Given the description of an element on the screen output the (x, y) to click on. 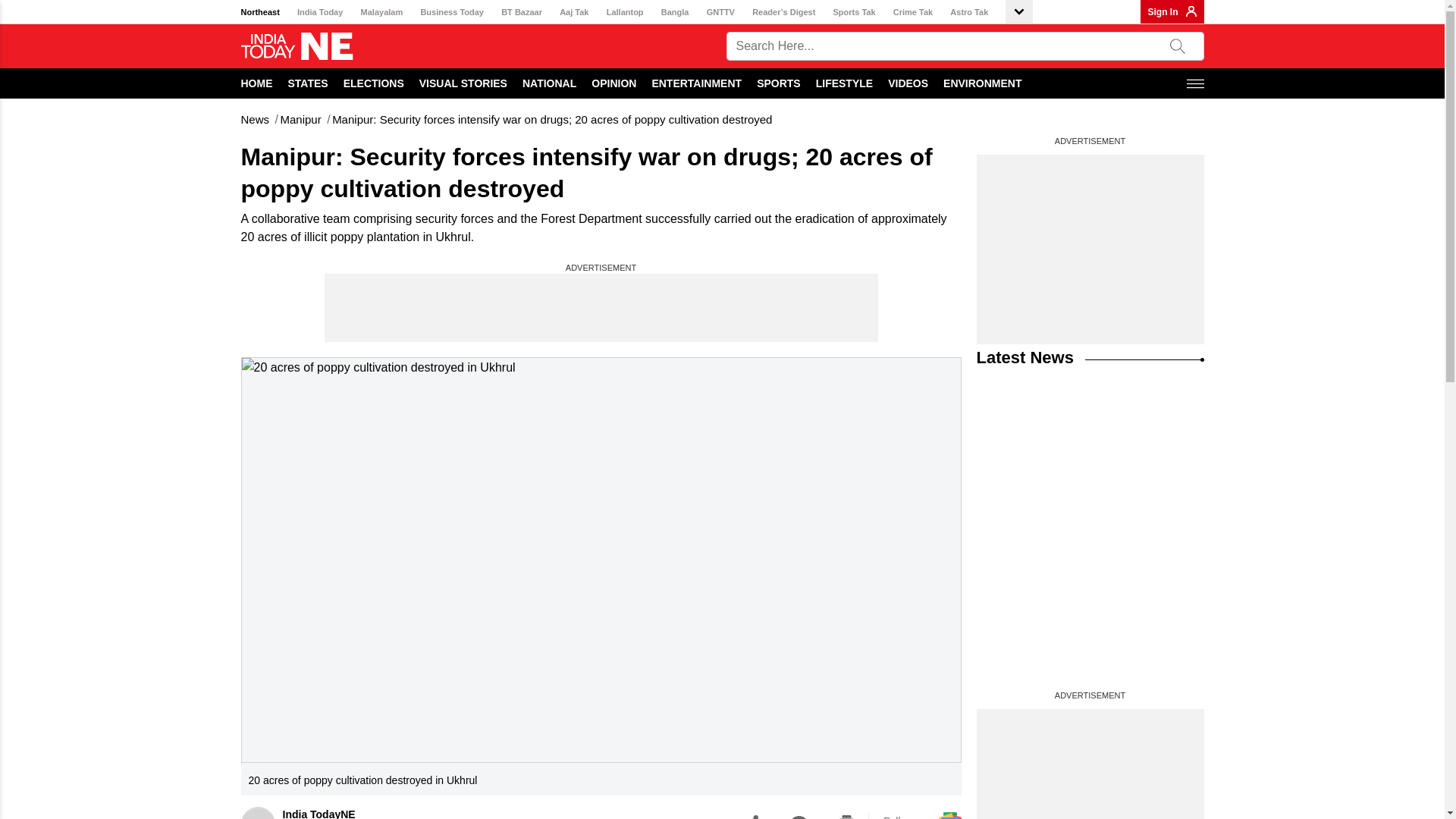
India Today (319, 12)
Bangla (674, 12)
HOME (257, 82)
Northeast (260, 12)
ENTERTAINMENT (695, 82)
Malayalam (382, 12)
Astro Tak (969, 12)
OPINION (613, 82)
Aaj Tak (573, 12)
STATES (308, 82)
